Given the description of an element on the screen output the (x, y) to click on. 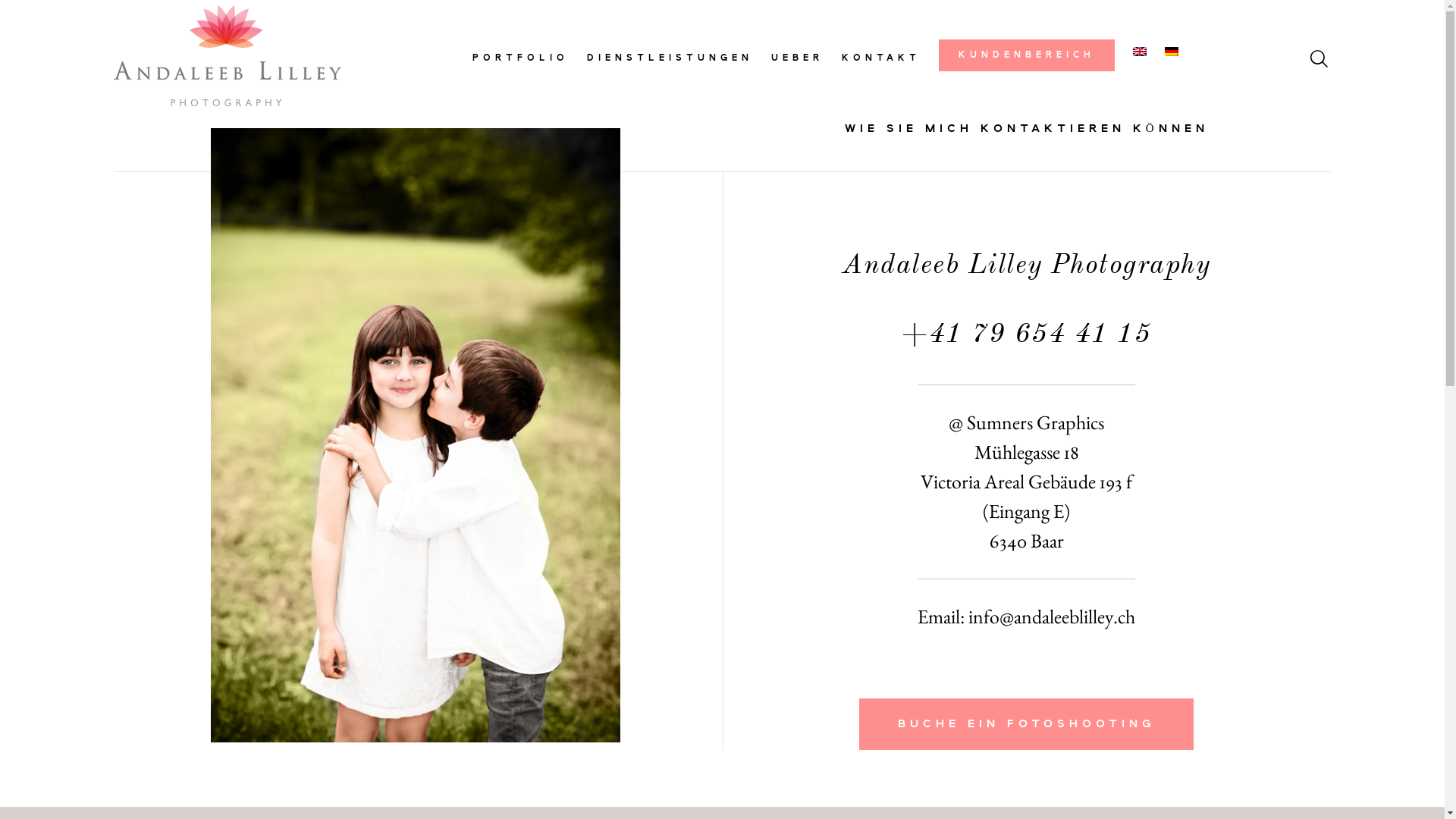
PORTFOLIO Element type: text (519, 59)
BUCHE EIN FOTOSHOOTING Element type: text (1026, 723)
DIENSTLEISTUNGEN Element type: text (669, 59)
KUNDENBEREICH Element type: text (1026, 54)
UEBER Element type: text (796, 59)
KONTAKT Element type: text (880, 59)
